Given the description of an element on the screen output the (x, y) to click on. 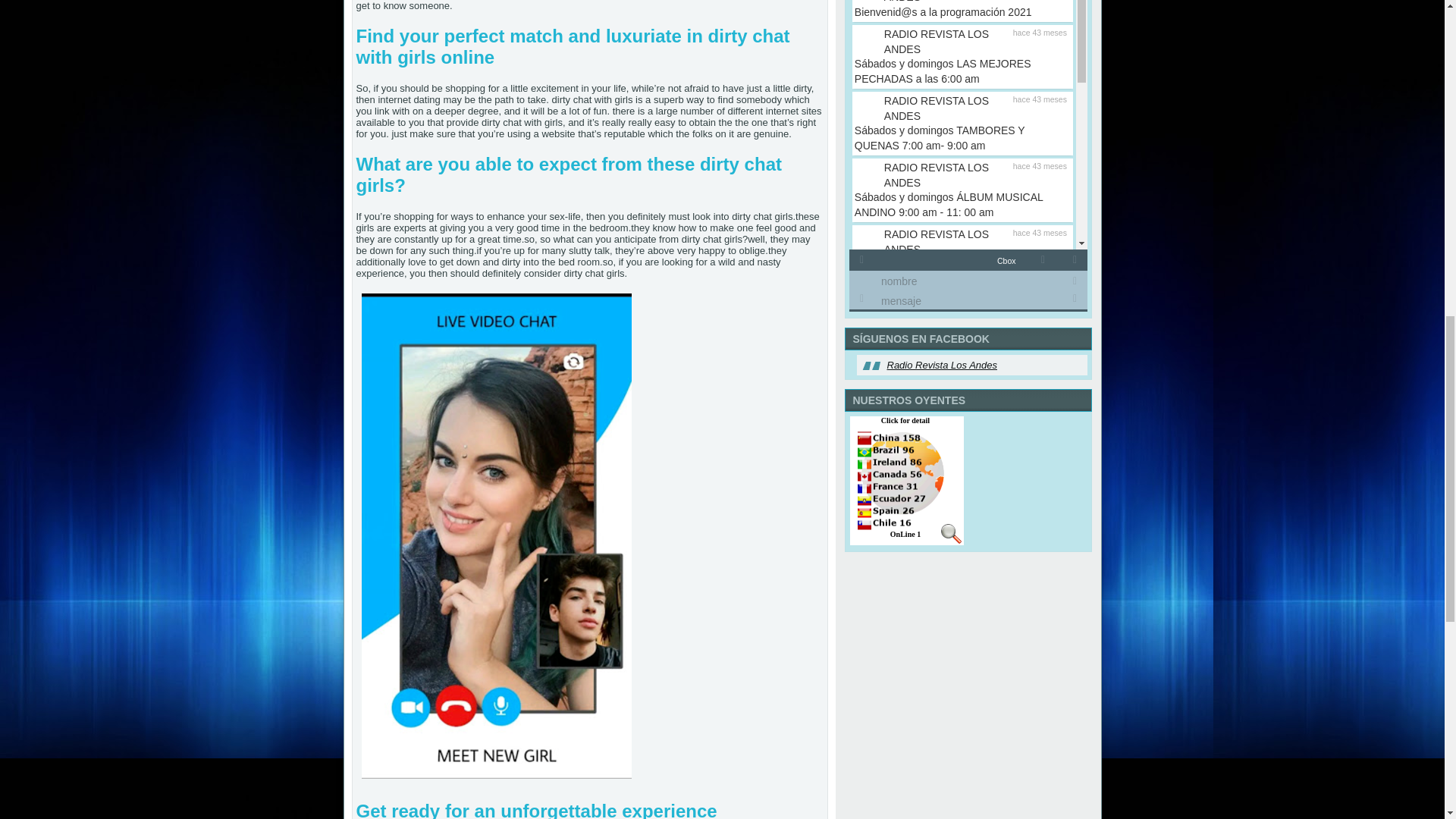
Radio Revista Los Andes (941, 365)
